Given the description of an element on the screen output the (x, y) to click on. 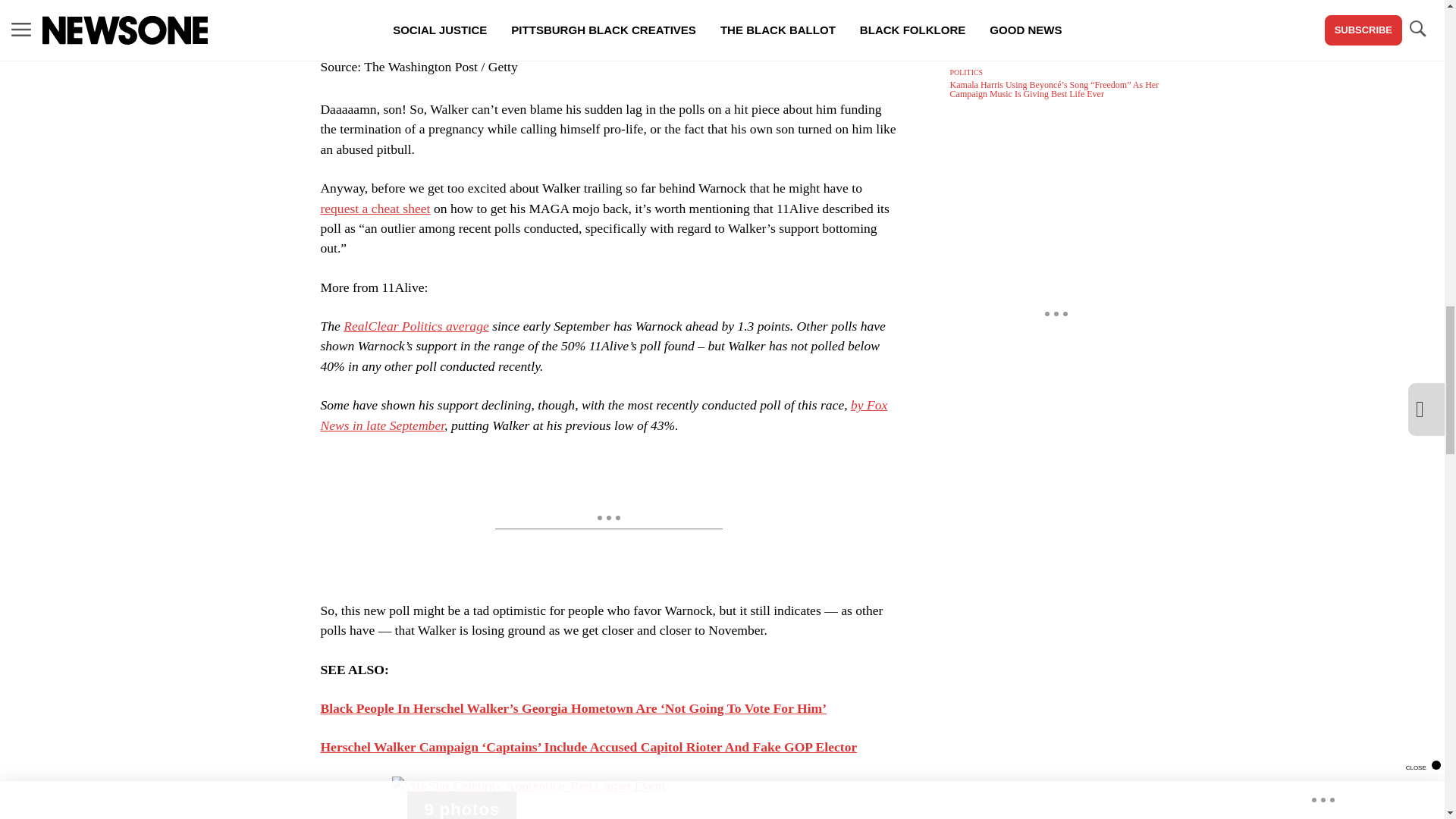
Media Playlist (461, 805)
